Given the description of an element on the screen output the (x, y) to click on. 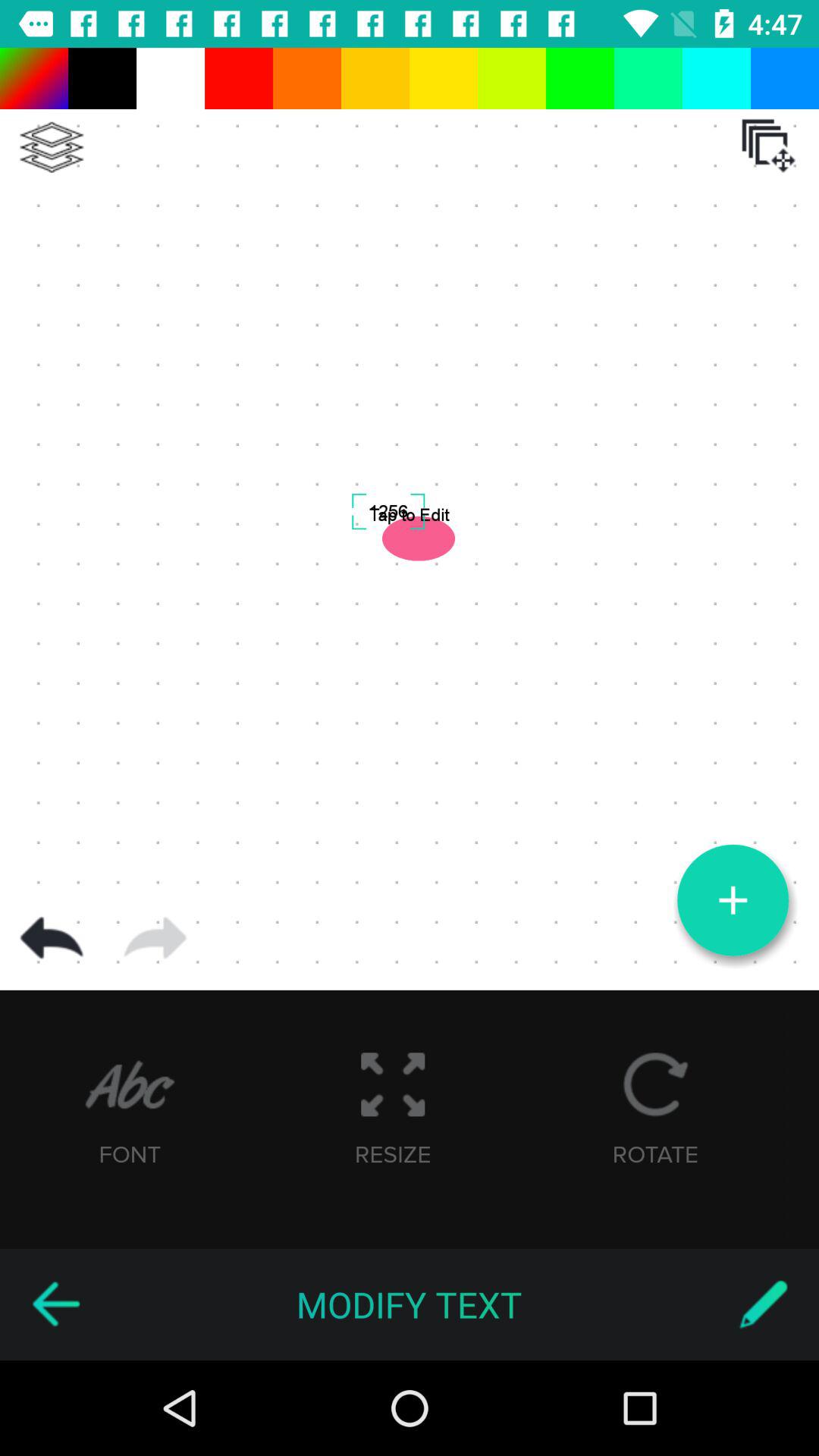
choose icon to the left of the modify text item (55, 1304)
